Given the description of an element on the screen output the (x, y) to click on. 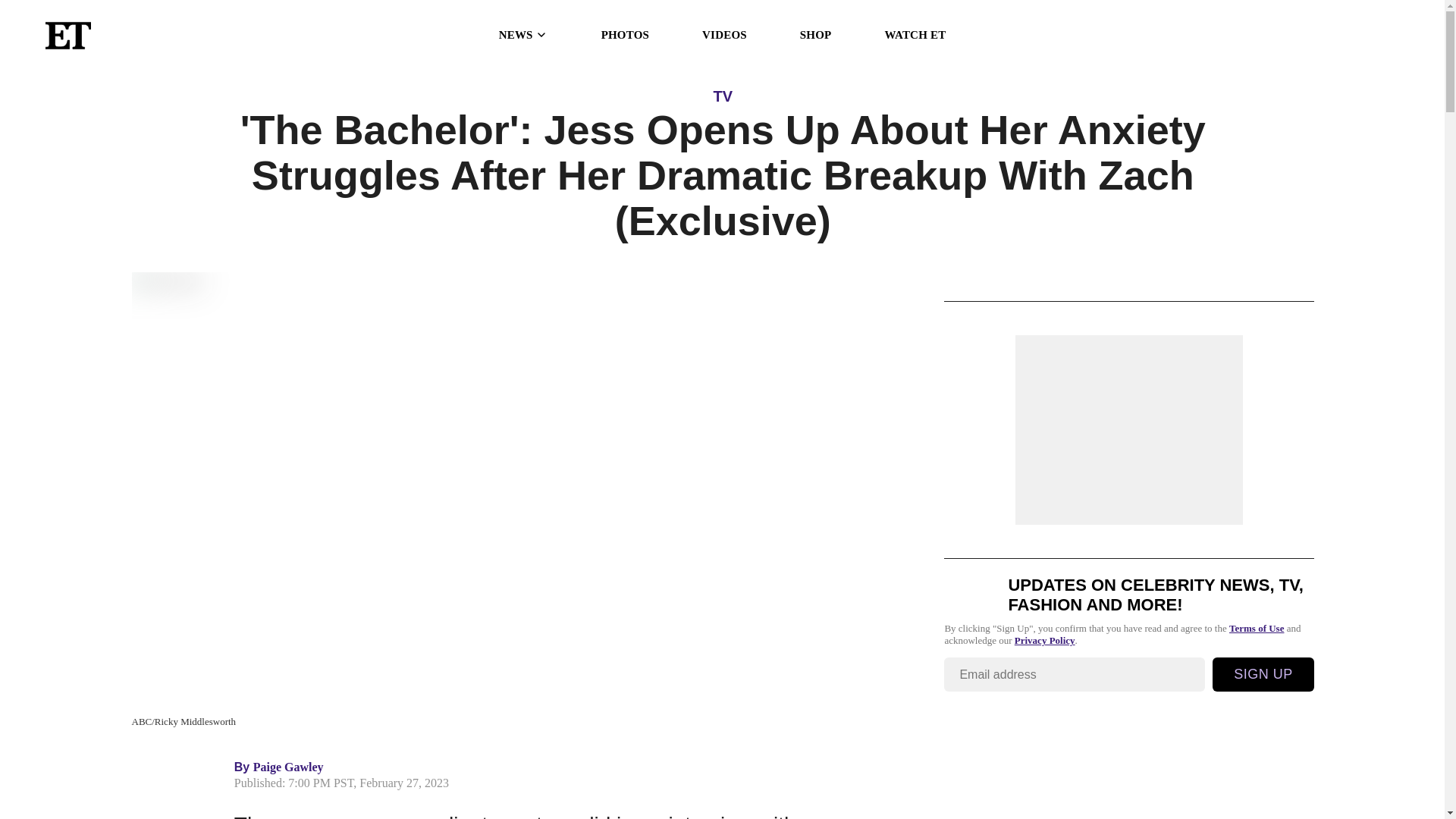
Paige Gawley (288, 766)
TV (722, 95)
VIDEOS (723, 34)
WATCH ET (913, 34)
PHOTOS (625, 34)
NEWS (523, 34)
SHOP (815, 34)
